Given the description of an element on the screen output the (x, y) to click on. 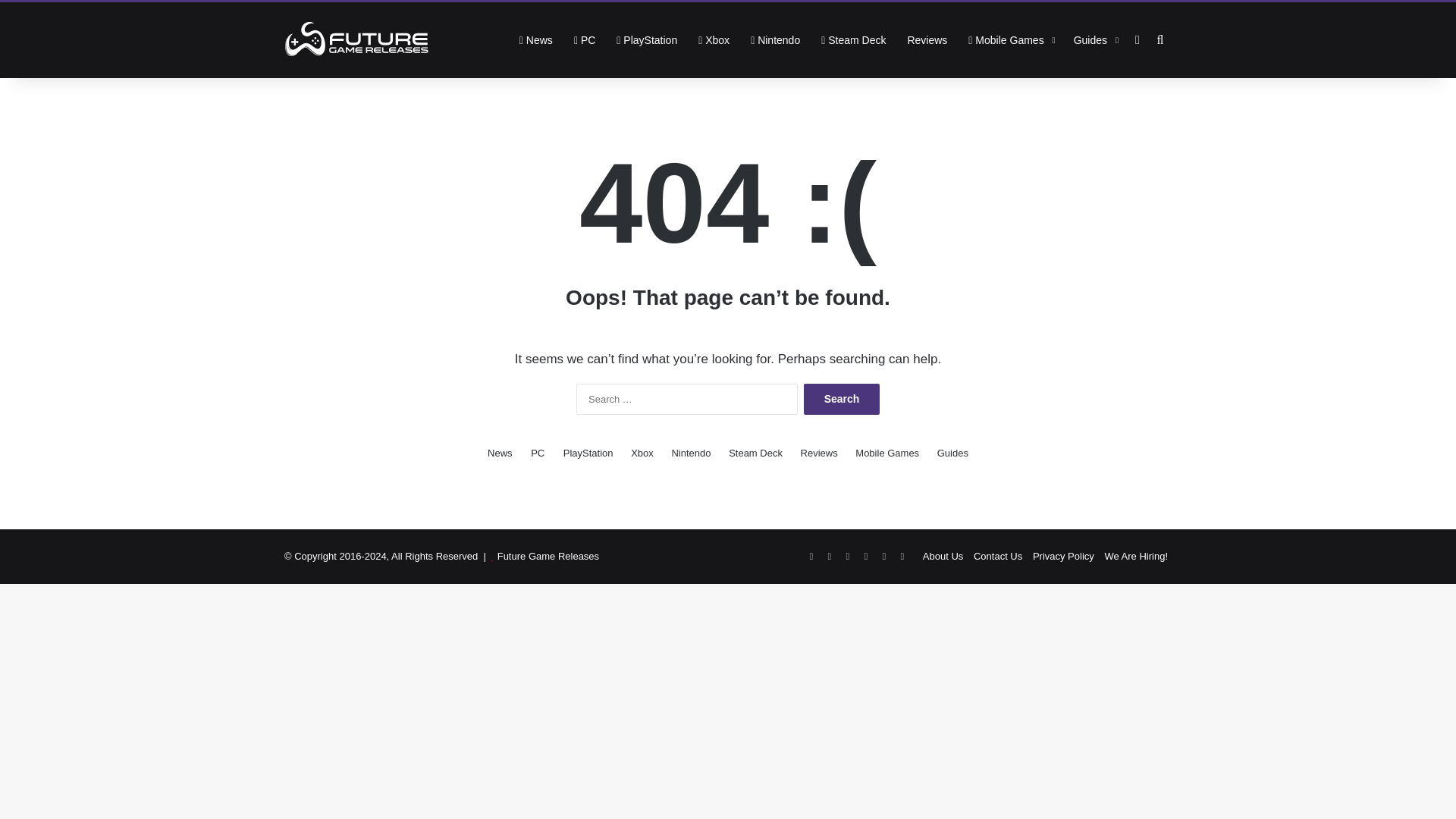
Xbox (641, 453)
Mobile Games (887, 453)
Guides (952, 453)
PlayStation (587, 453)
PlayStation (587, 453)
Nintendo (774, 39)
Search (841, 399)
Search (841, 399)
Reviews (819, 453)
PlayStation (646, 39)
PC (536, 453)
Mobile Games (1010, 39)
Search (841, 399)
Steam Deck (853, 39)
Future Game Releases (355, 40)
